Given the description of an element on the screen output the (x, y) to click on. 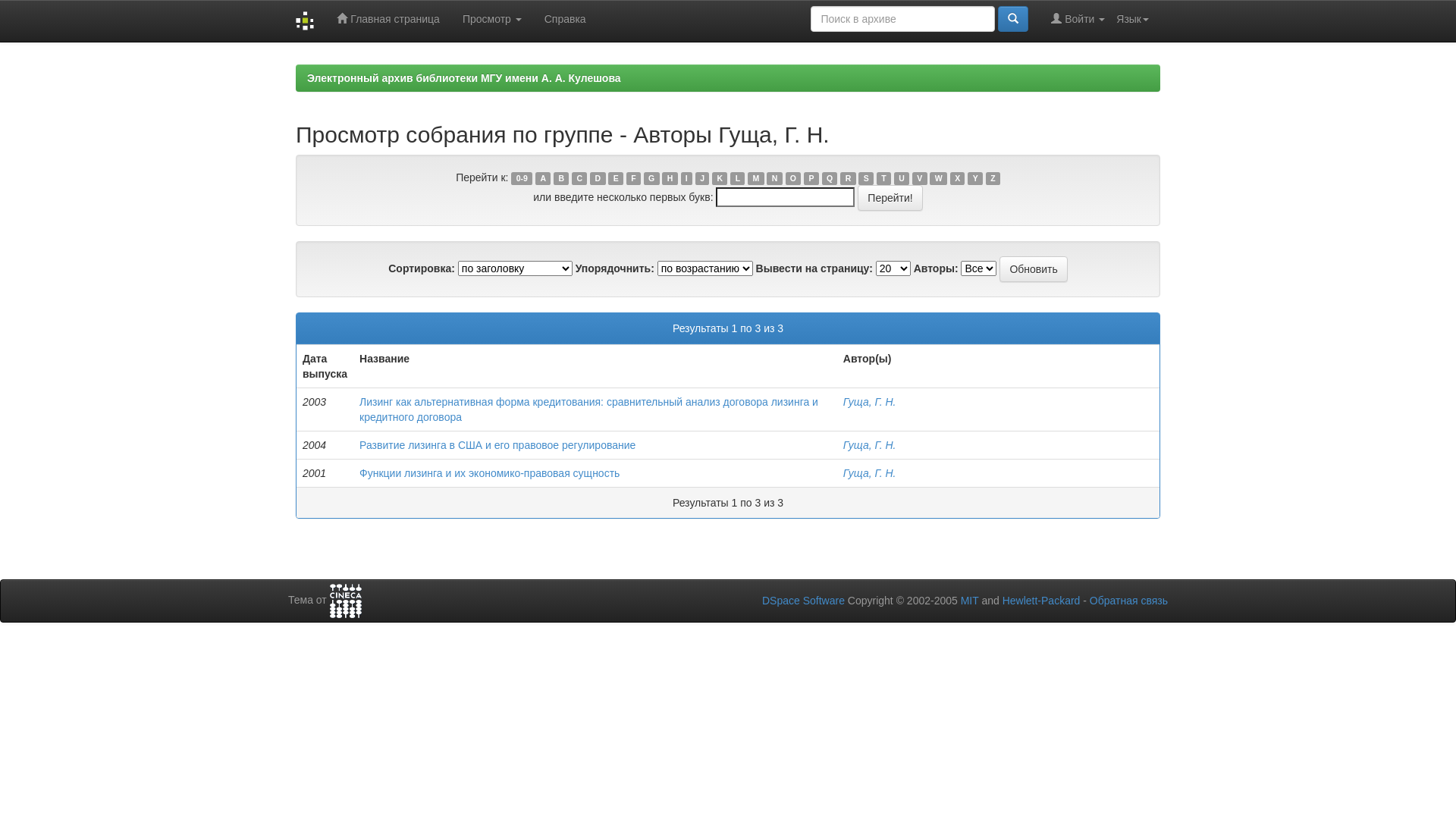
N Element type: text (773, 178)
S Element type: text (865, 178)
DSpace Software Element type: text (803, 600)
A Element type: text (542, 178)
M Element type: text (755, 178)
0-9 Element type: text (521, 178)
MIT Element type: text (969, 600)
T Element type: text (883, 178)
C Element type: text (578, 178)
Hewlett-Packard Element type: text (1041, 600)
H Element type: text (669, 178)
U Element type: text (901, 178)
O Element type: text (793, 178)
W Element type: text (938, 178)
K Element type: text (719, 178)
X Element type: text (957, 178)
V Element type: text (919, 178)
E Element type: text (615, 178)
F Element type: text (633, 178)
R Element type: text (847, 178)
L Element type: text (737, 178)
G Element type: text (651, 178)
B Element type: text (560, 178)
Y Element type: text (974, 178)
D Element type: text (597, 178)
J Element type: text (702, 178)
Z Element type: text (992, 178)
I Element type: text (686, 178)
Q Element type: text (829, 178)
P Element type: text (811, 178)
